Given the description of an element on the screen output the (x, y) to click on. 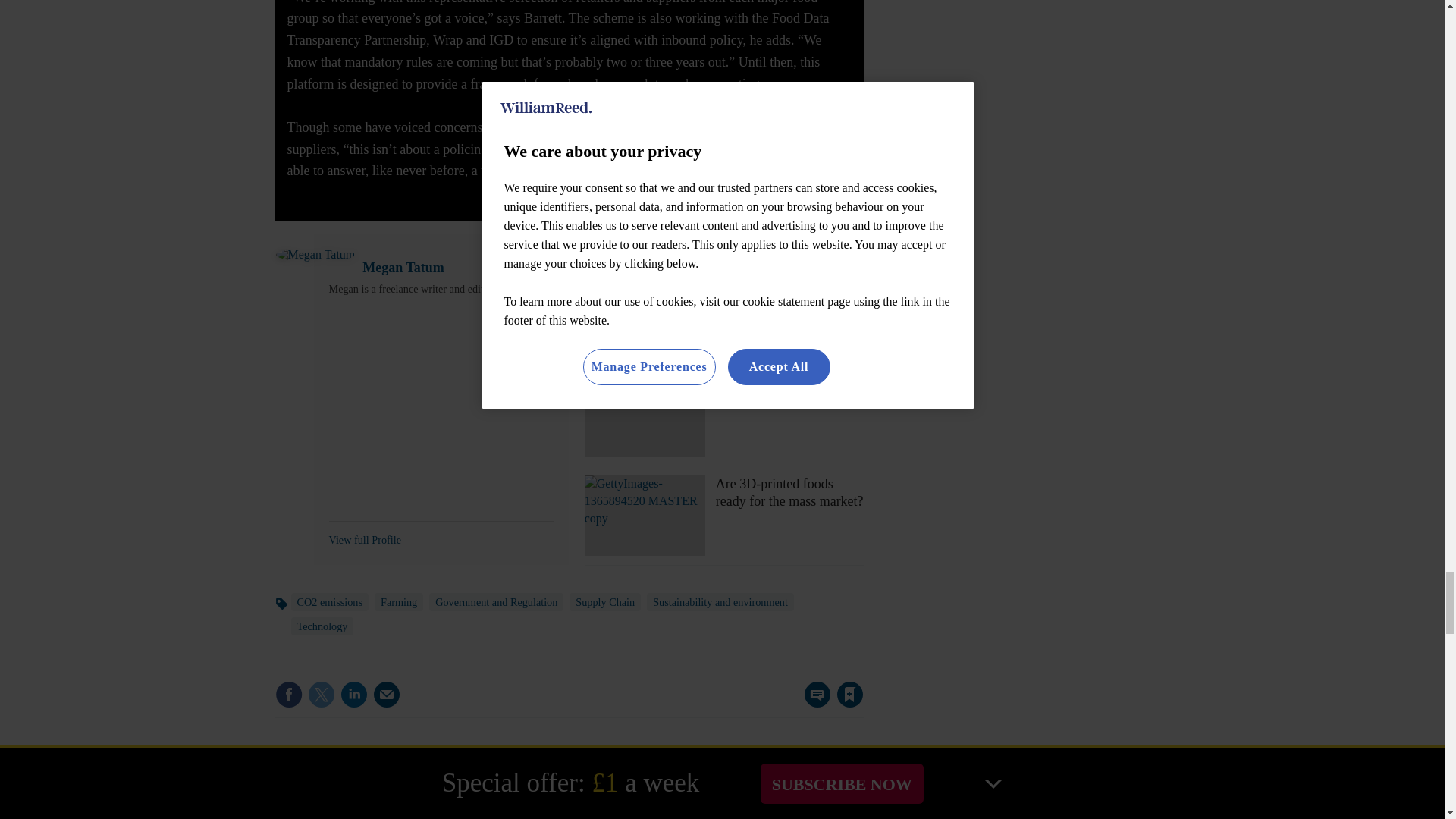
No comments (812, 703)
Share this on Facebook (288, 694)
Email this article (386, 694)
Share this on Linked in (352, 694)
Share this on Twitter (320, 694)
